Given the description of an element on the screen output the (x, y) to click on. 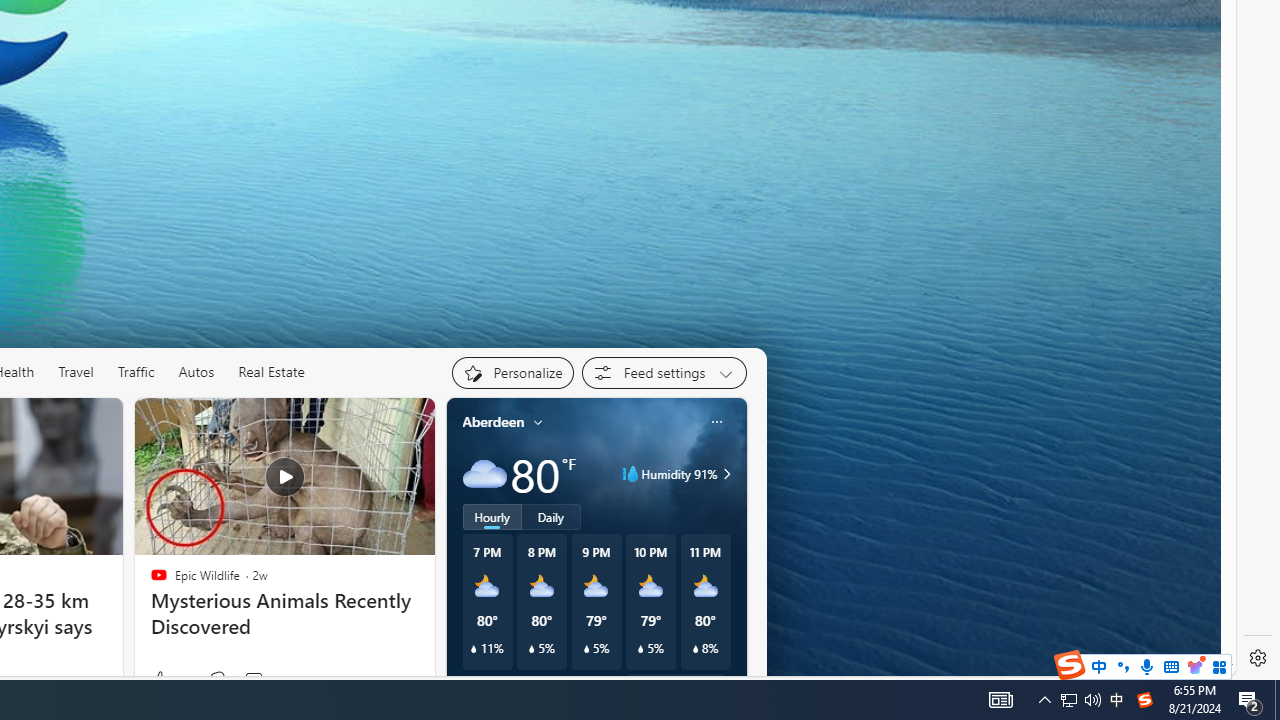
Cloudy (484, 474)
Autos (196, 371)
Class: weather-current-precipitation-glyph (695, 649)
Real Estate (271, 372)
Feed settings (664, 372)
